Given the description of an element on the screen output the (x, y) to click on. 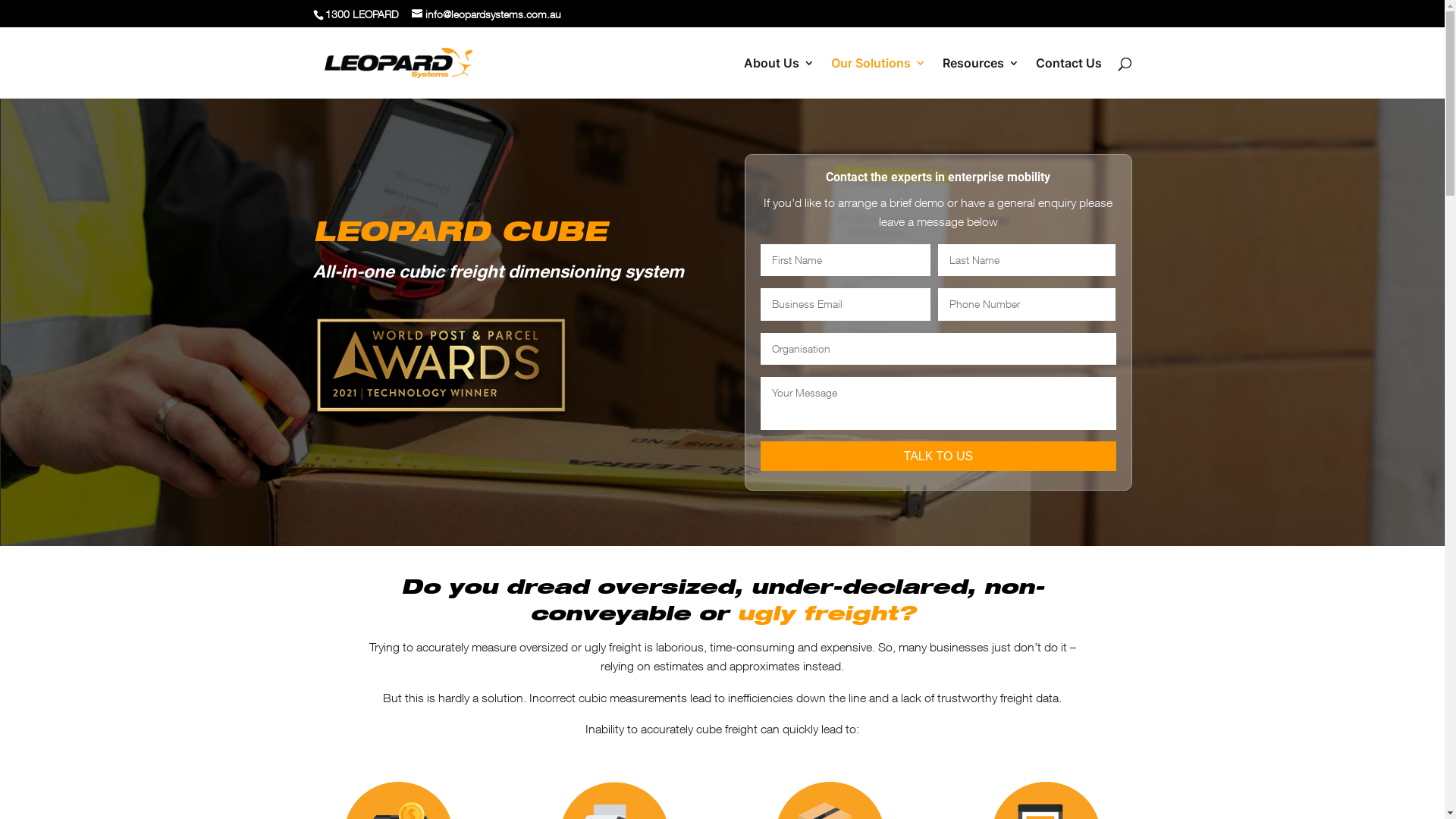
Resources Element type: text (979, 77)
Contact Us Element type: text (1068, 77)
Our Solutions Element type: text (878, 77)
About Us Element type: text (778, 77)
info@leopardsystems.com.au Element type: text (485, 13)
TALK TO US Element type: text (937, 455)
1300 LEOPARD Element type: text (359, 13)
